Given the description of an element on the screen output the (x, y) to click on. 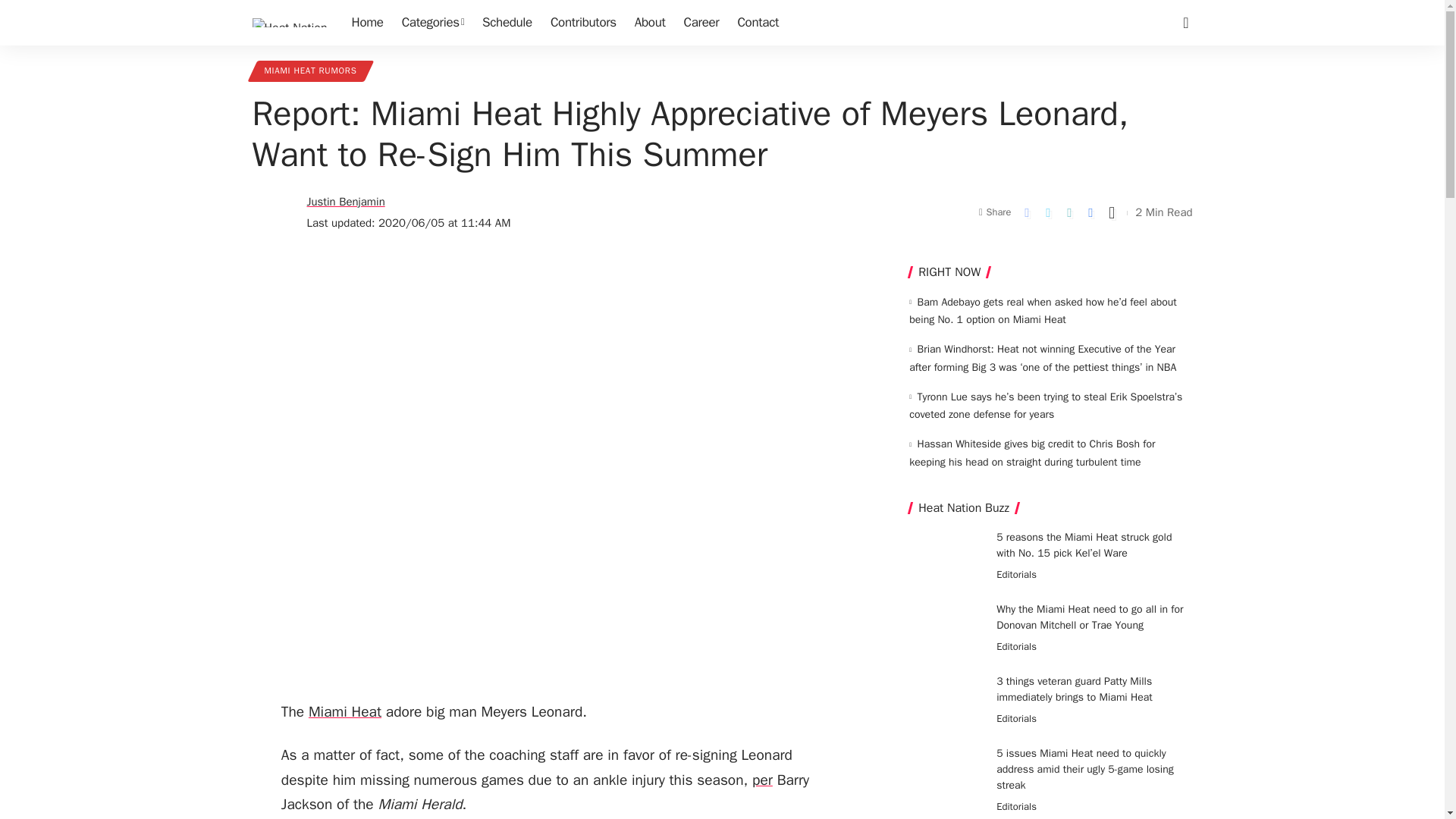
Contact (757, 22)
MIAMI HEAT RUMORS (309, 70)
per (762, 780)
Career (702, 22)
Contributors (583, 22)
Home (367, 22)
Justin Benjamin (344, 201)
